Given the description of an element on the screen output the (x, y) to click on. 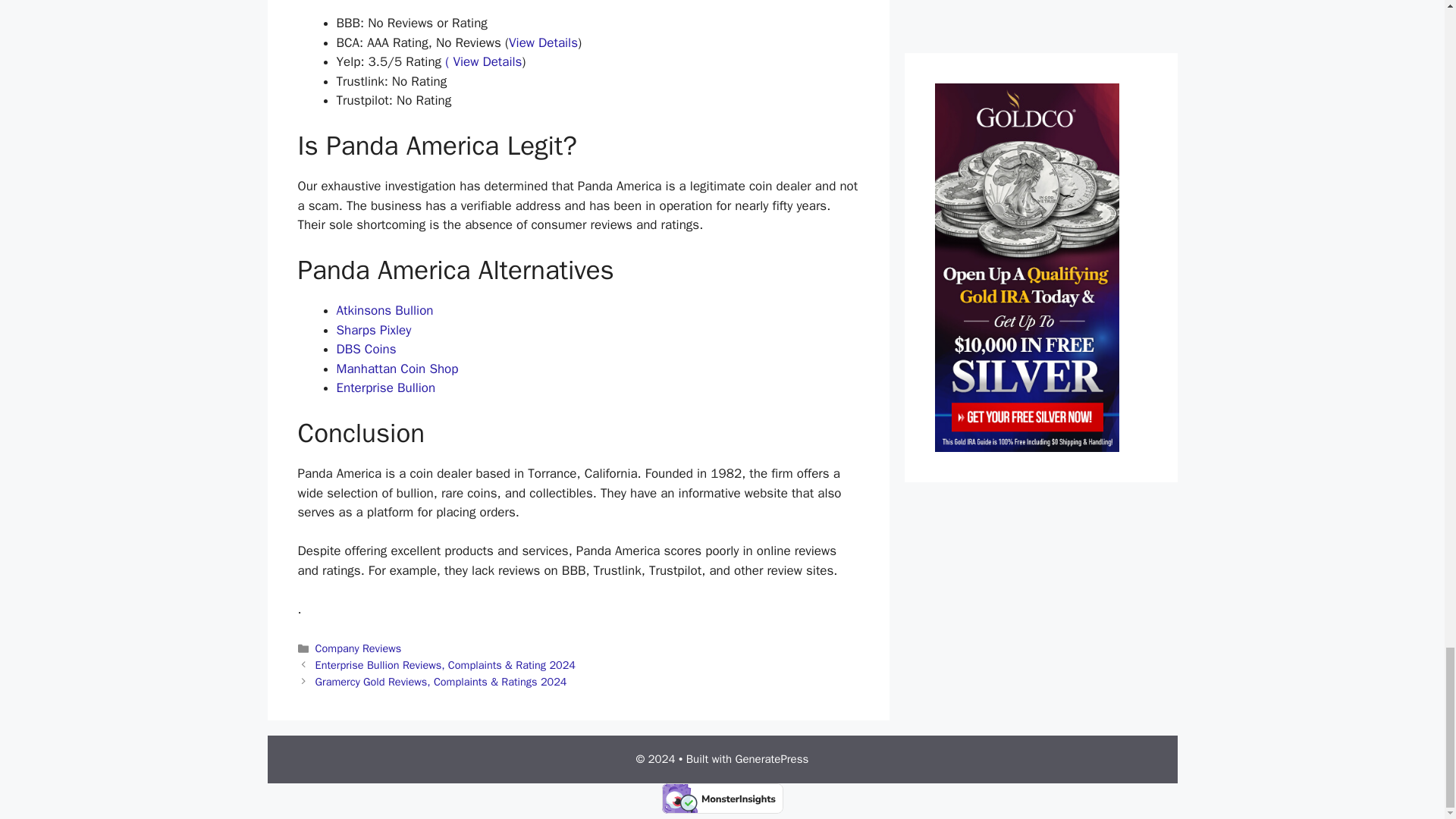
Verified by MonsterInsights (722, 798)
View Details (543, 42)
